Given the description of an element on the screen output the (x, y) to click on. 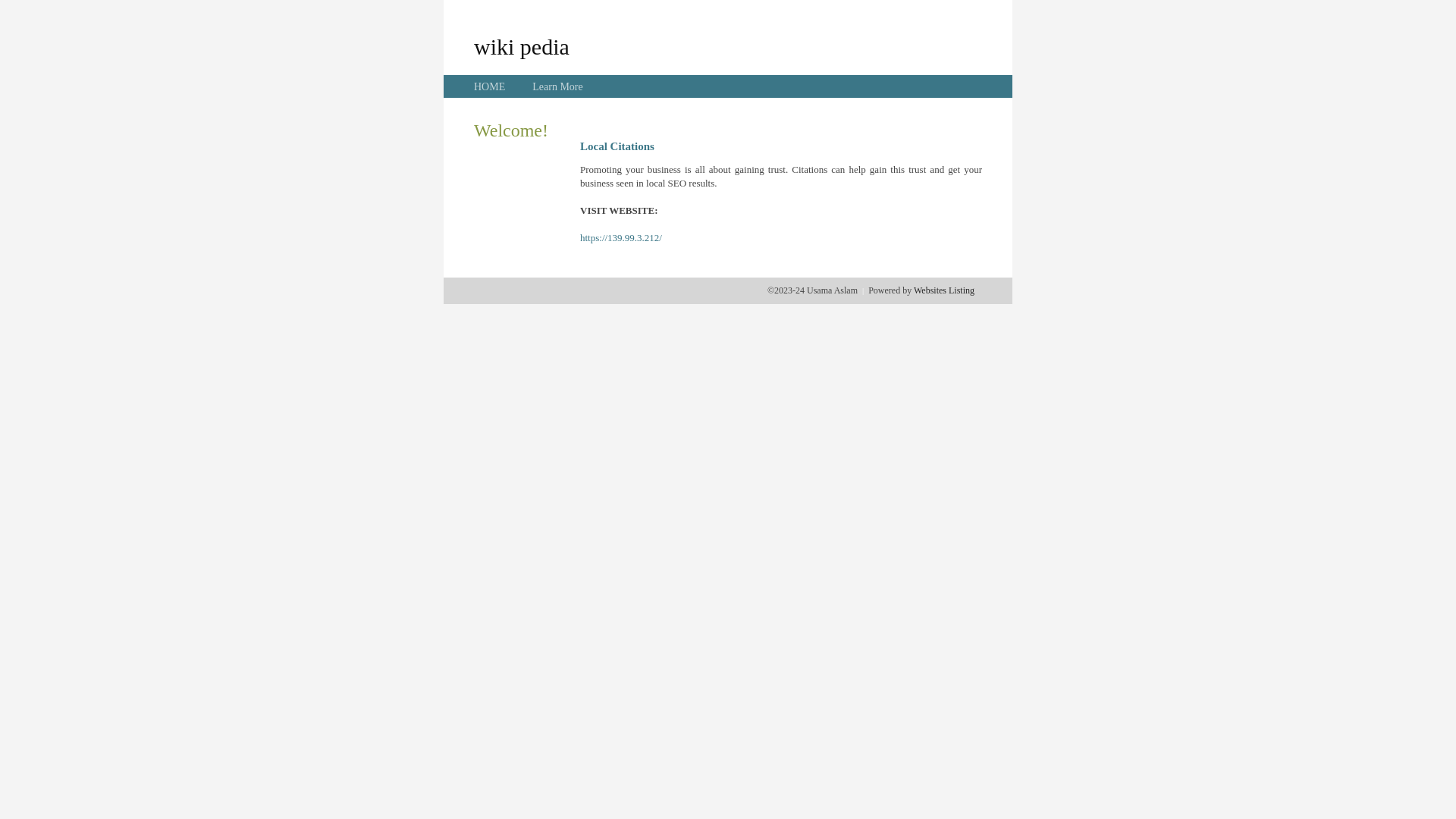
wiki pedia Element type: text (521, 46)
Websites Listing Element type: text (943, 290)
Learn More Element type: text (557, 86)
HOME Element type: text (489, 86)
https://139.99.3.212/ Element type: text (621, 237)
